Given the description of an element on the screen output the (x, y) to click on. 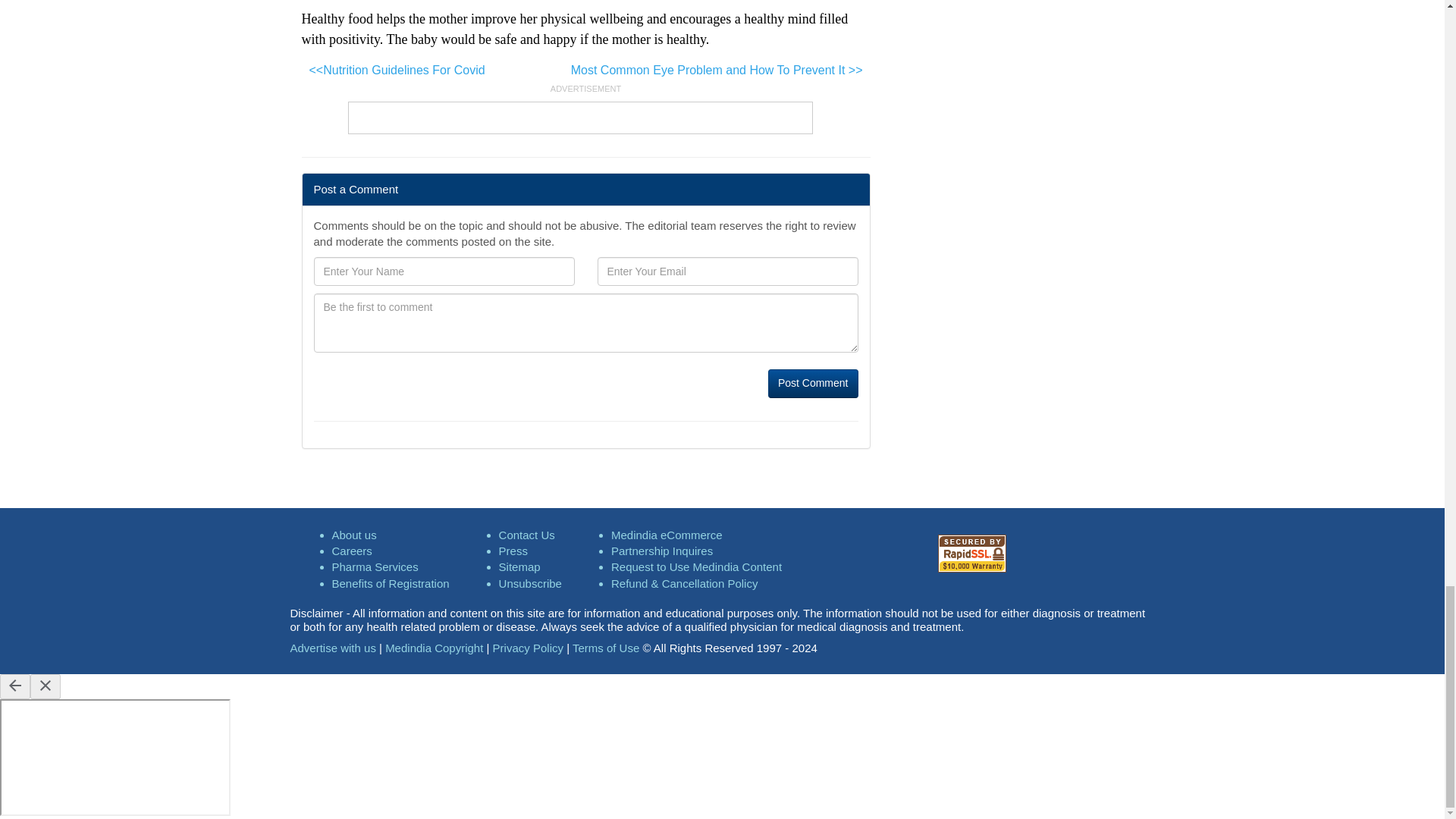
Most Common Eye Problem and How To Prevent It (716, 70)
Nutrition Guidelines For Covid (397, 70)
Post Comment (813, 383)
